Given the description of an element on the screen output the (x, y) to click on. 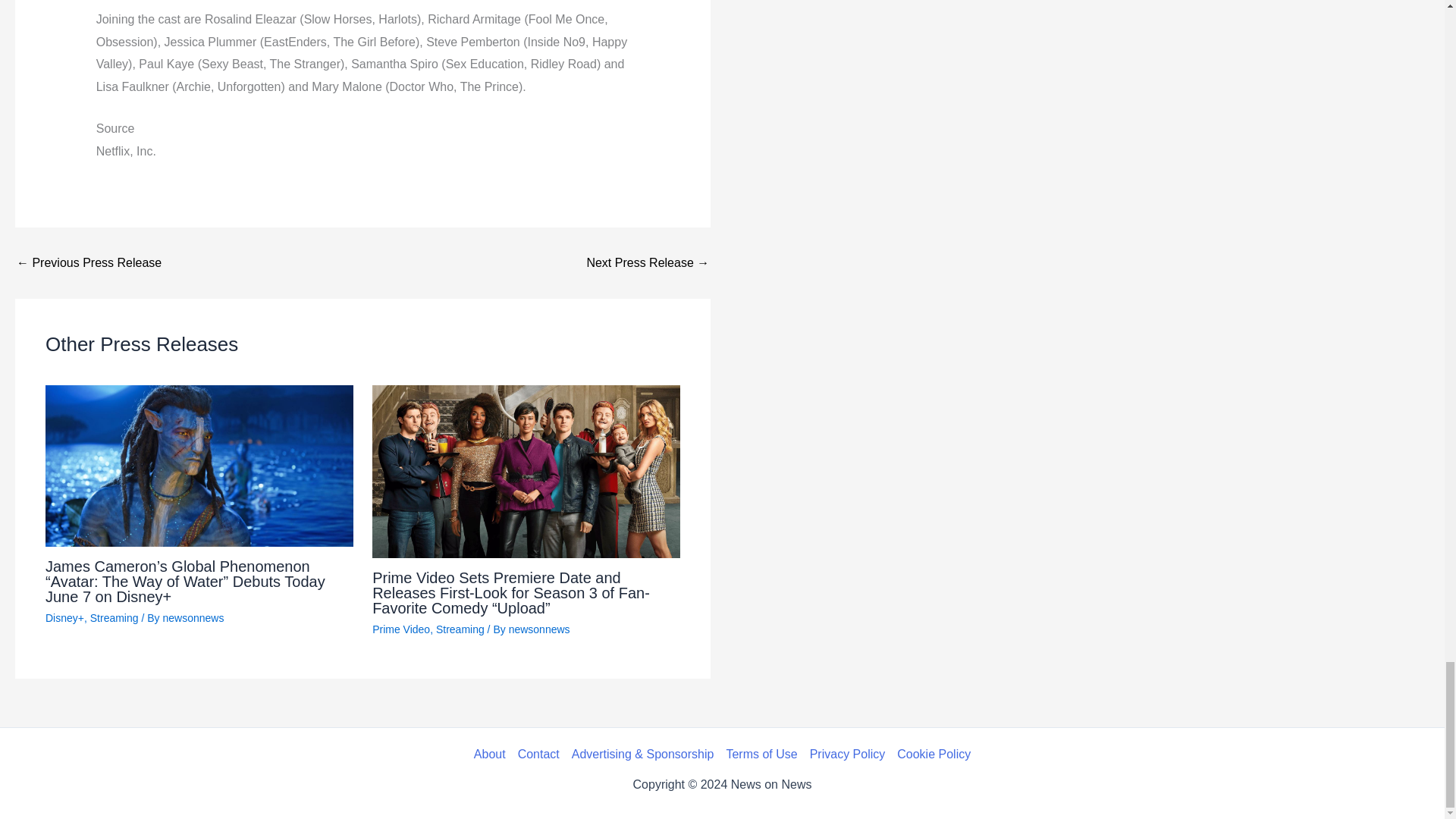
View all posts by newsonnews (192, 617)
View all posts by newsonnews (539, 629)
John Rubinstein Guests On Harvey Brownstone Interviews (88, 263)
